Given the description of an element on the screen output the (x, y) to click on. 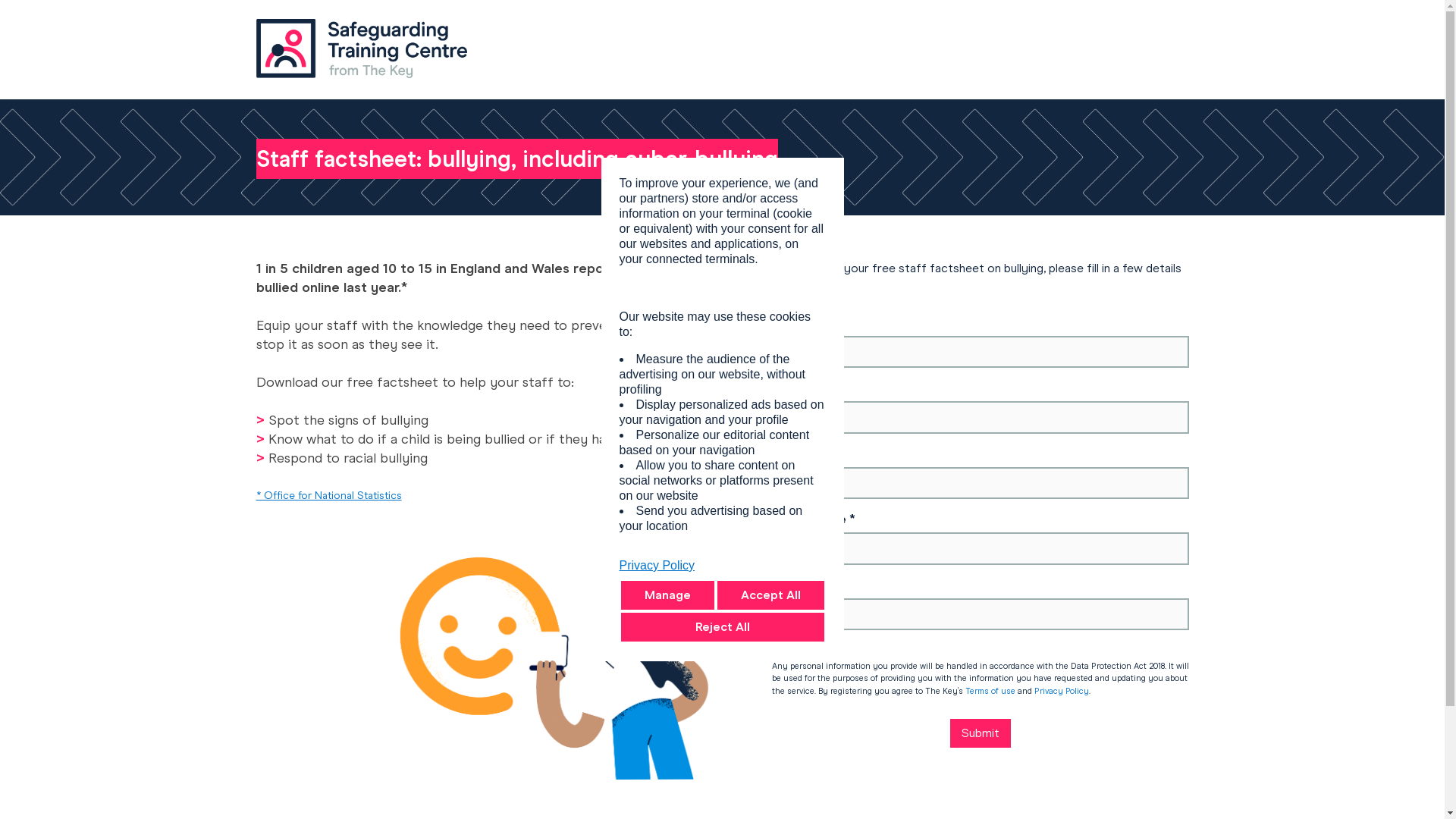
Accept All (770, 594)
Reject All (722, 626)
Terms of use (988, 690)
Privacy Policy (1061, 690)
Submit (979, 733)
Manage (666, 594)
Privacy Policy (721, 565)
